Given the description of an element on the screen output the (x, y) to click on. 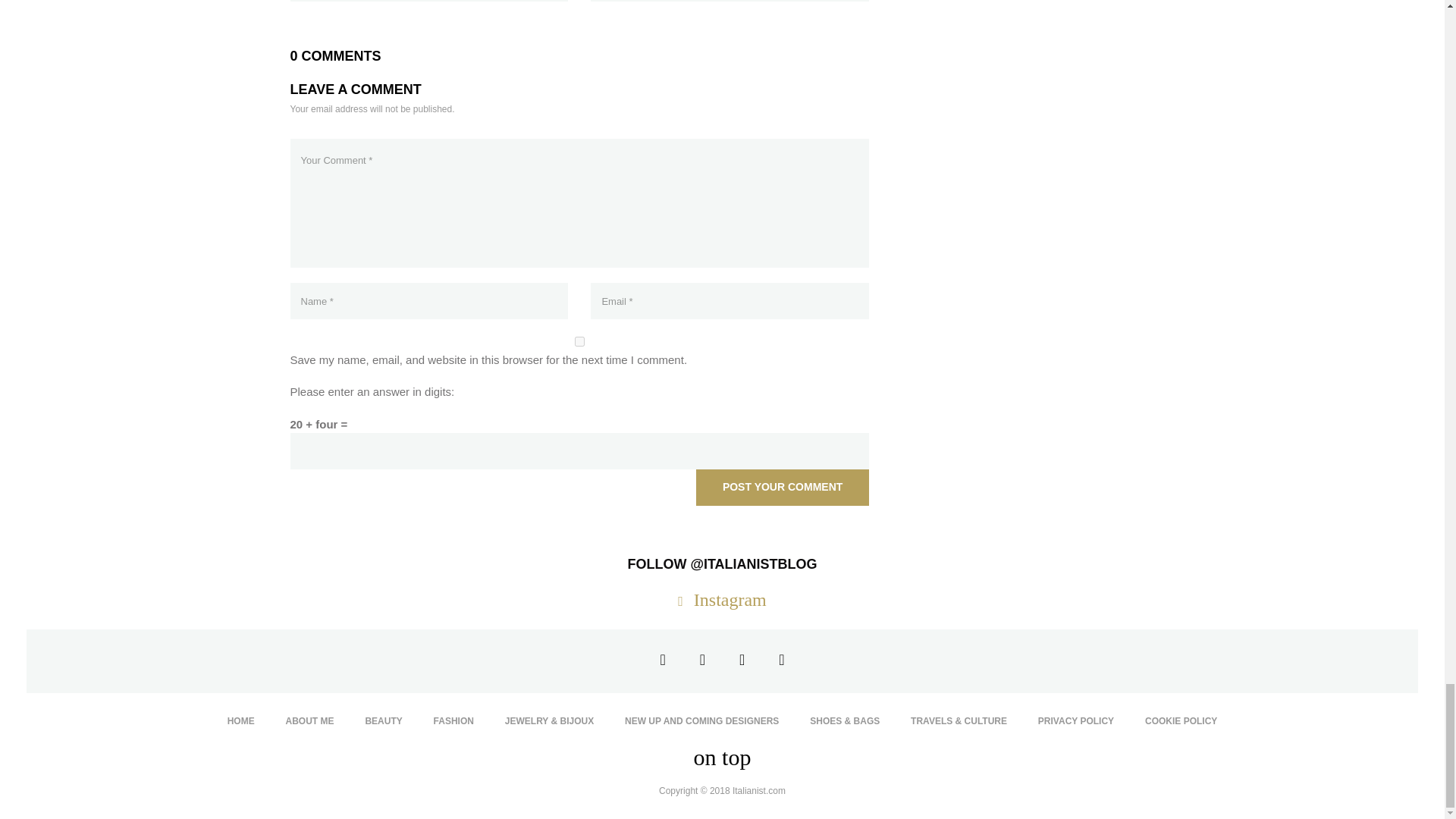
Post Your Comment (782, 487)
yes (579, 341)
